Given the description of an element on the screen output the (x, y) to click on. 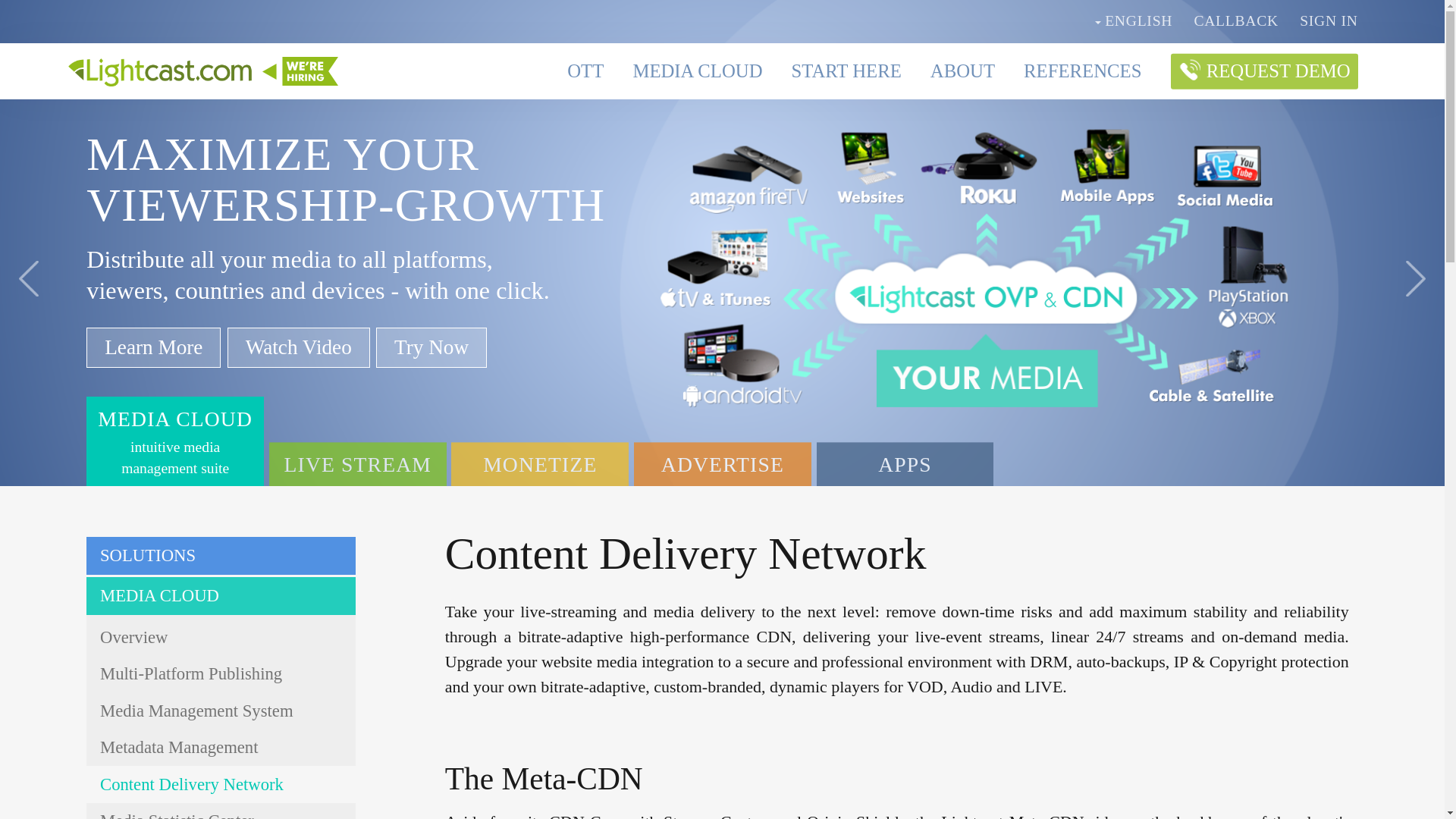
CALLBACK (1235, 20)
OTT (585, 71)
ENGLISH (1133, 20)
START HERE (846, 71)
MEDIA CLOUD (696, 71)
ABOUT (962, 71)
SIGN IN (1329, 20)
